Given the description of an element on the screen output the (x, y) to click on. 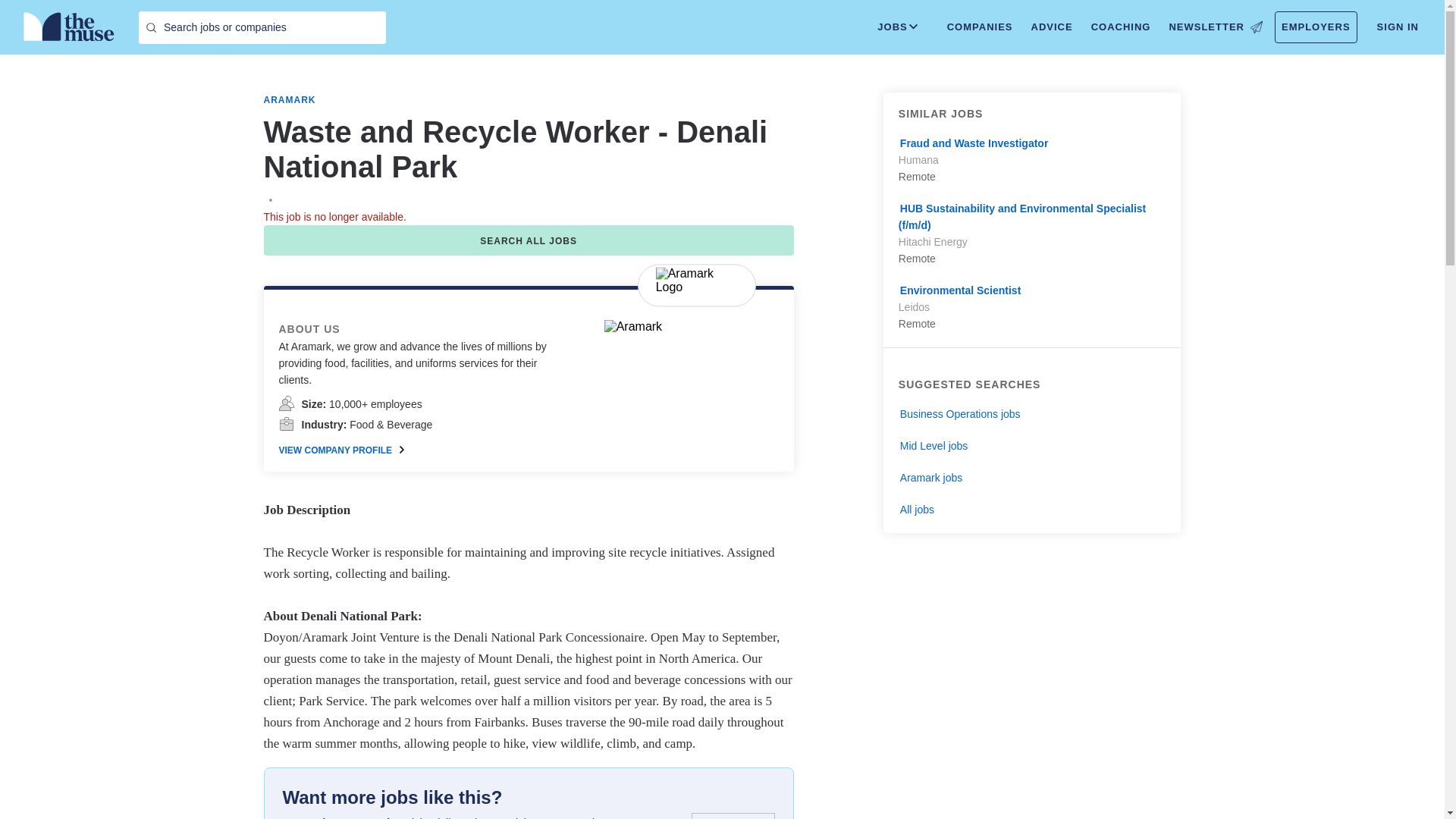
EMPLOYERS (1315, 27)
COACHING (1120, 27)
ARAMARK (289, 100)
ADVICE (1051, 27)
NEWSLETTER (1214, 27)
SIGN IN (1398, 27)
COMPANIES (979, 27)
SEARCH ALL JOBS (528, 240)
VIEW COMPANY PROFILE (341, 450)
